Given the description of an element on the screen output the (x, y) to click on. 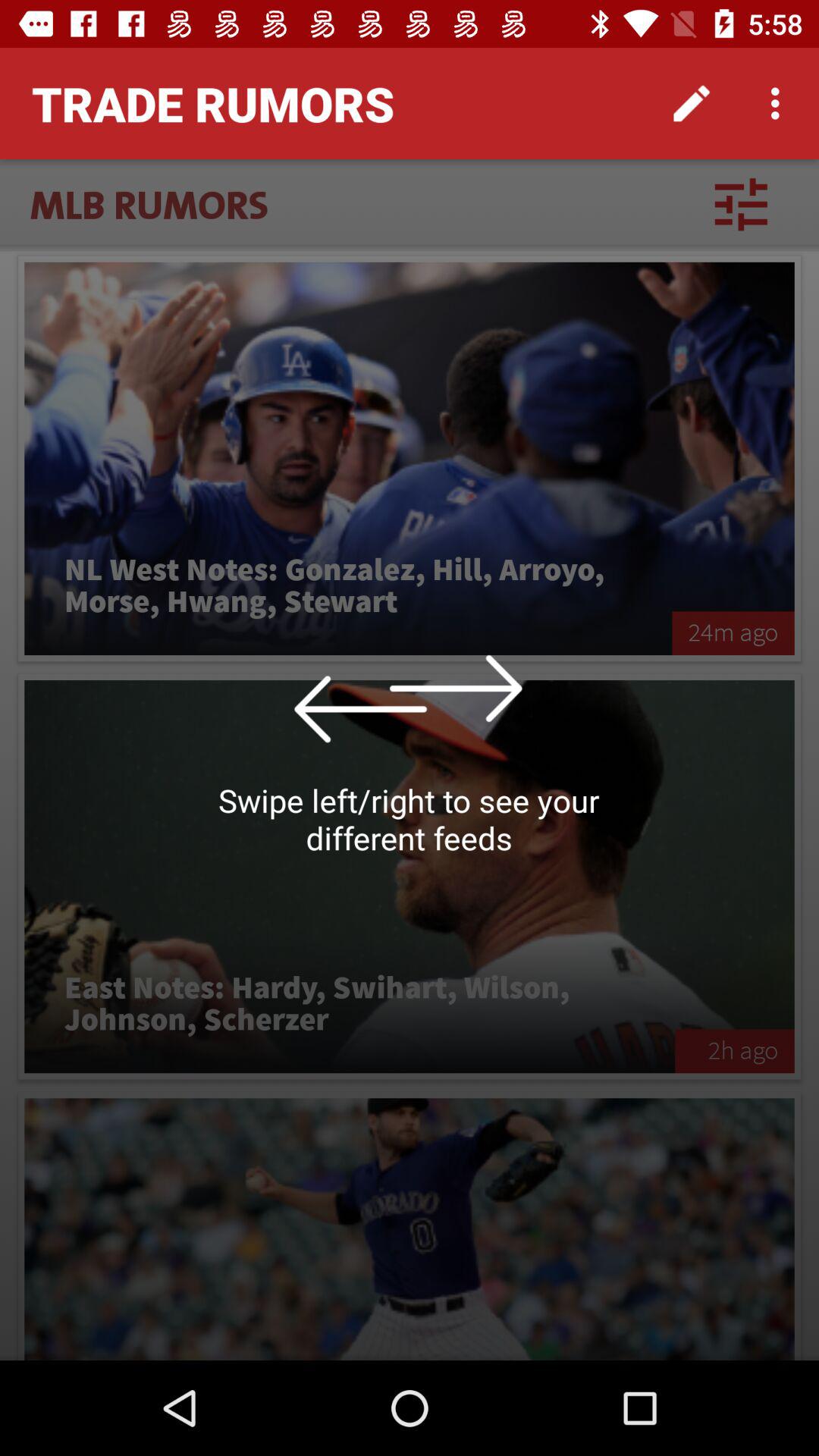
open the icon to the right of the trade rumors item (691, 103)
